Given the description of an element on the screen output the (x, y) to click on. 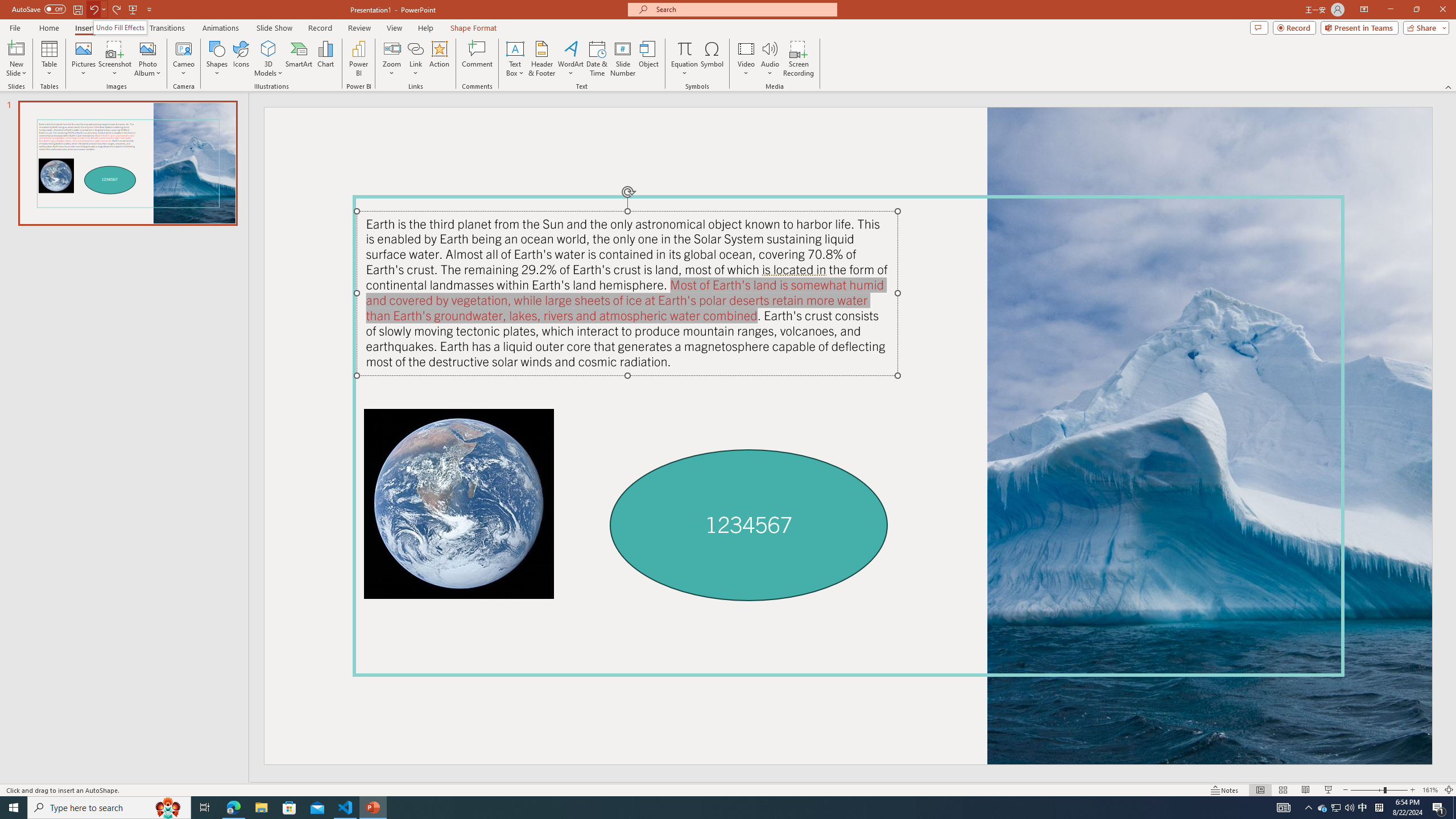
Draw Horizontal Text Box (515, 48)
Object... (649, 58)
SmartArt... (298, 58)
